Given the description of an element on the screen output the (x, y) to click on. 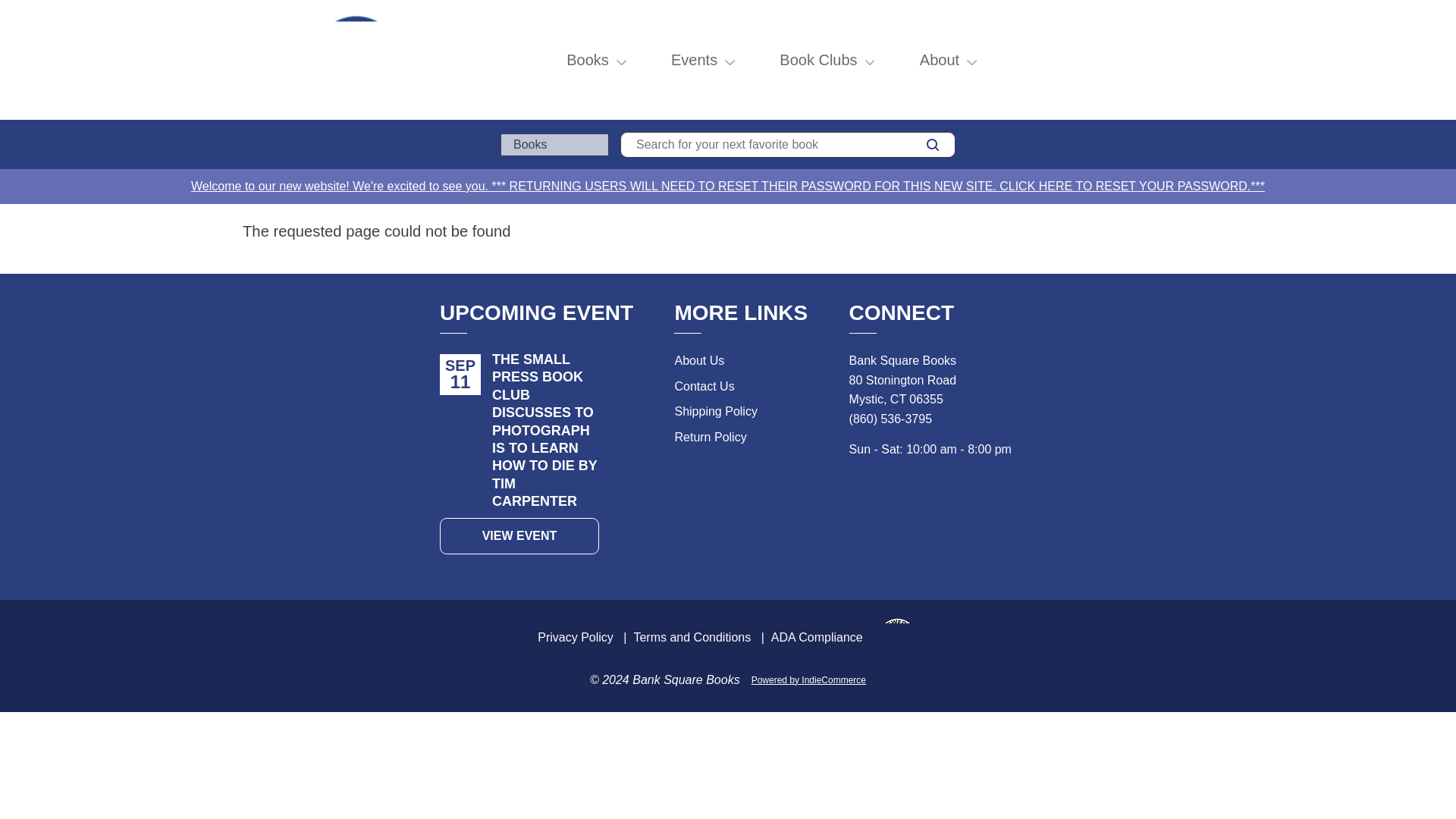
Connect with Instagram (924, 492)
Connect with X (857, 492)
Book Clubs (818, 59)
Cart (1206, 59)
Wishlist (1172, 59)
Shipping Policy (715, 410)
Books (587, 59)
About Us (698, 359)
Connect with Facebook (891, 492)
Log in (1139, 59)
